Given the description of an element on the screen output the (x, y) to click on. 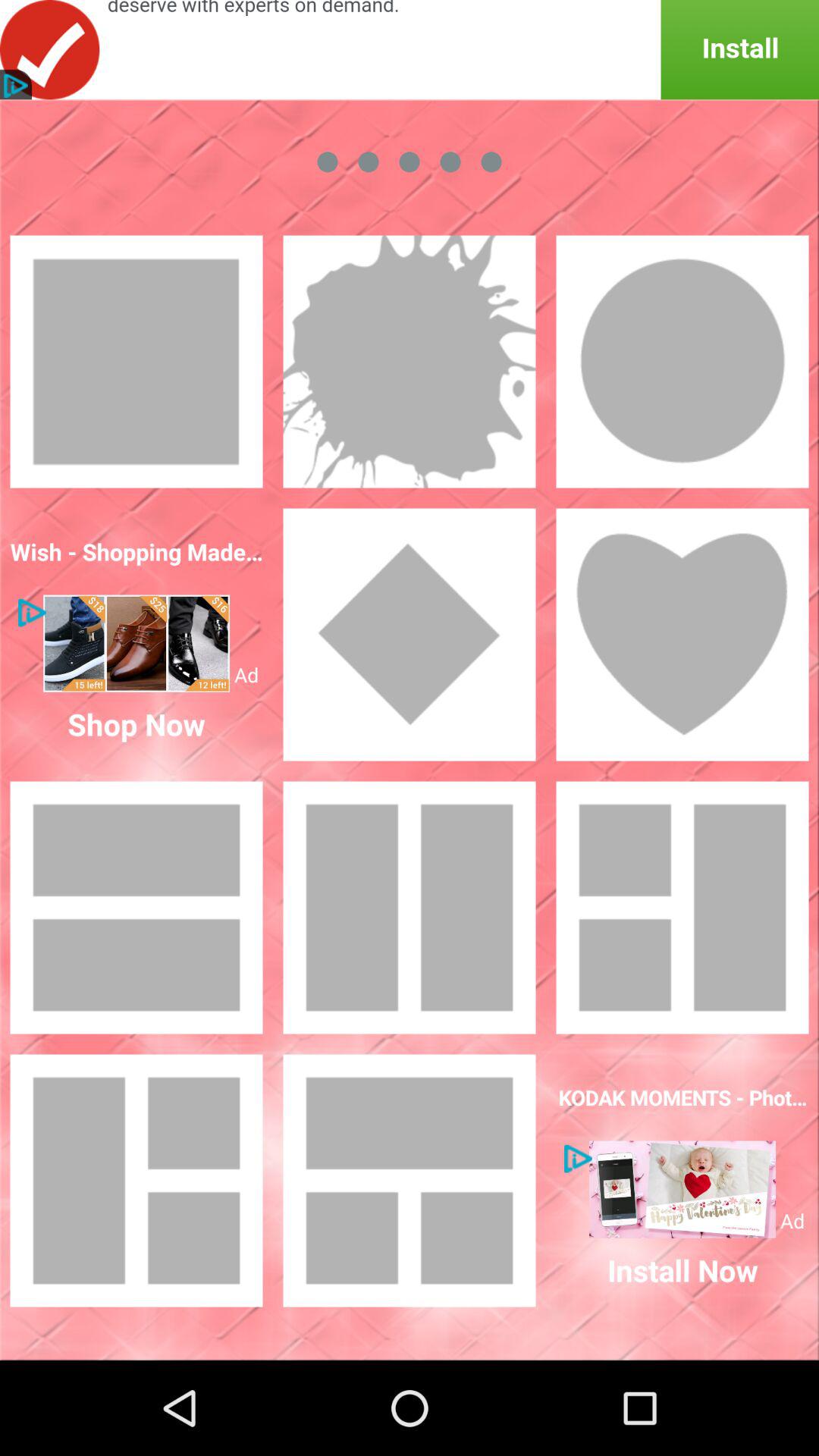
go to option (682, 1189)
